Given the description of an element on the screen output the (x, y) to click on. 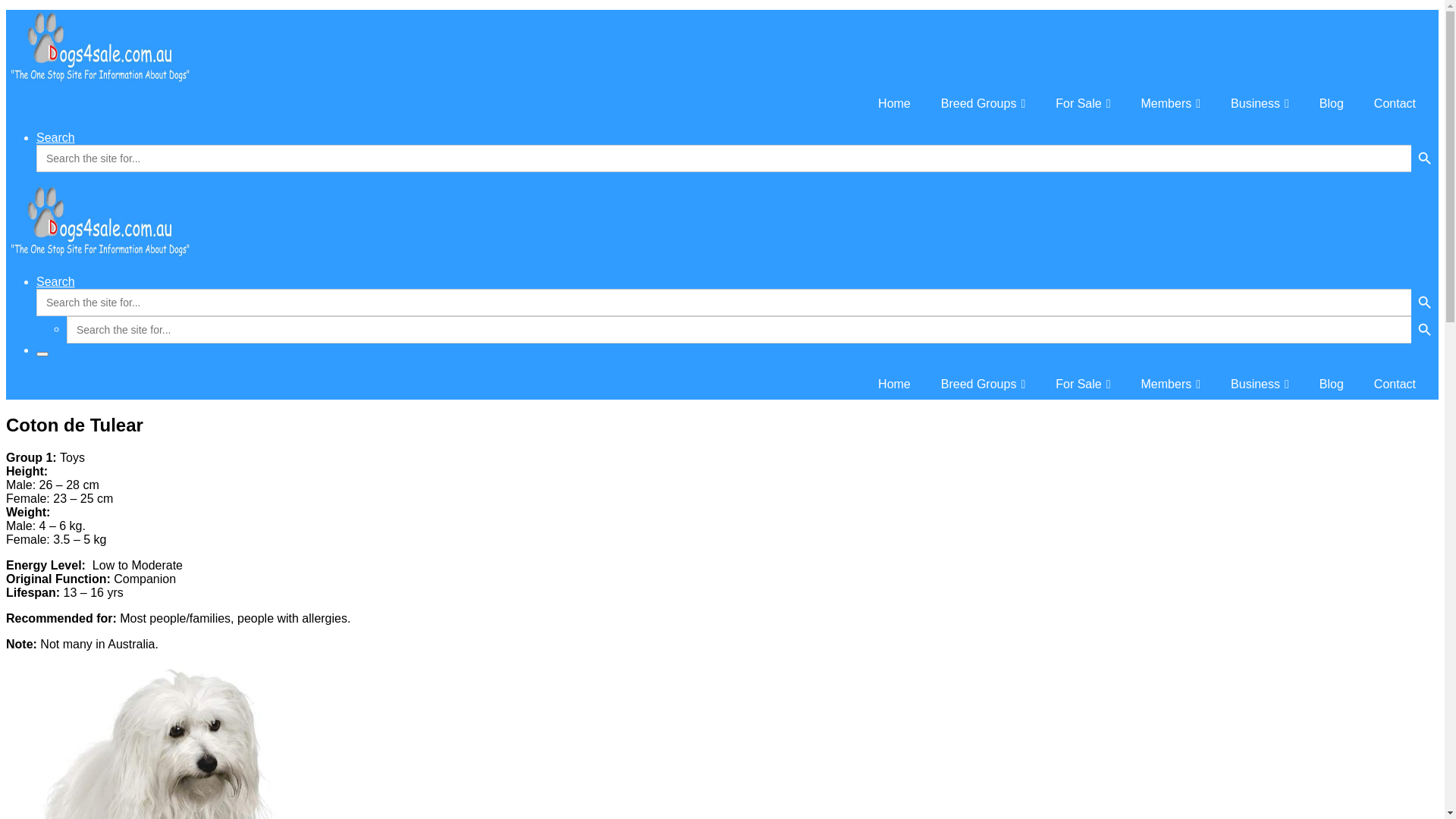
Breed Groups Element type: text (982, 384)
Members Element type: text (1170, 384)
Business Element type: text (1259, 103)
Contact Element type: text (1394, 384)
Home Element type: text (894, 384)
Search Button Element type: text (1424, 329)
Contact Element type: text (1394, 103)
Search Element type: text (55, 137)
Search Element type: text (55, 281)
Skip to content Element type: text (5, 5)
For Sale Element type: text (1082, 103)
Menu Element type: text (42, 353)
For Sale Element type: text (1082, 384)
Members Element type: text (1170, 103)
Blog Element type: text (1331, 384)
Breed Groups Element type: text (982, 103)
Blog Element type: text (1331, 103)
Search Button Element type: text (1424, 302)
Search Button Element type: text (1424, 158)
Home Element type: text (894, 103)
Business Element type: text (1259, 384)
